Given the description of an element on the screen output the (x, y) to click on. 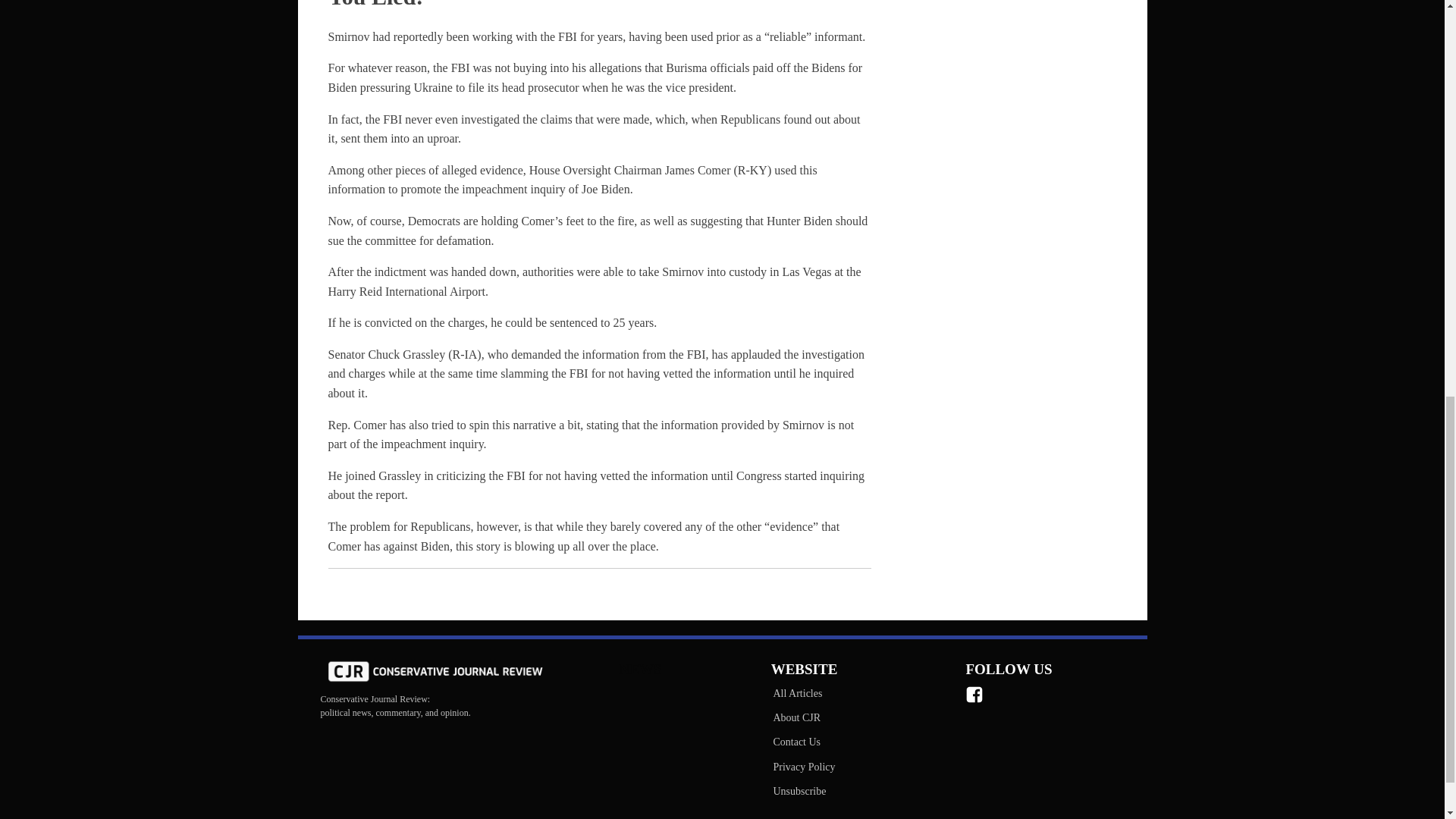
Contact Us (803, 742)
Unsubscribe (803, 791)
Privacy Policy (803, 767)
All Articles (803, 693)
About CJR (803, 717)
